Given the description of an element on the screen output the (x, y) to click on. 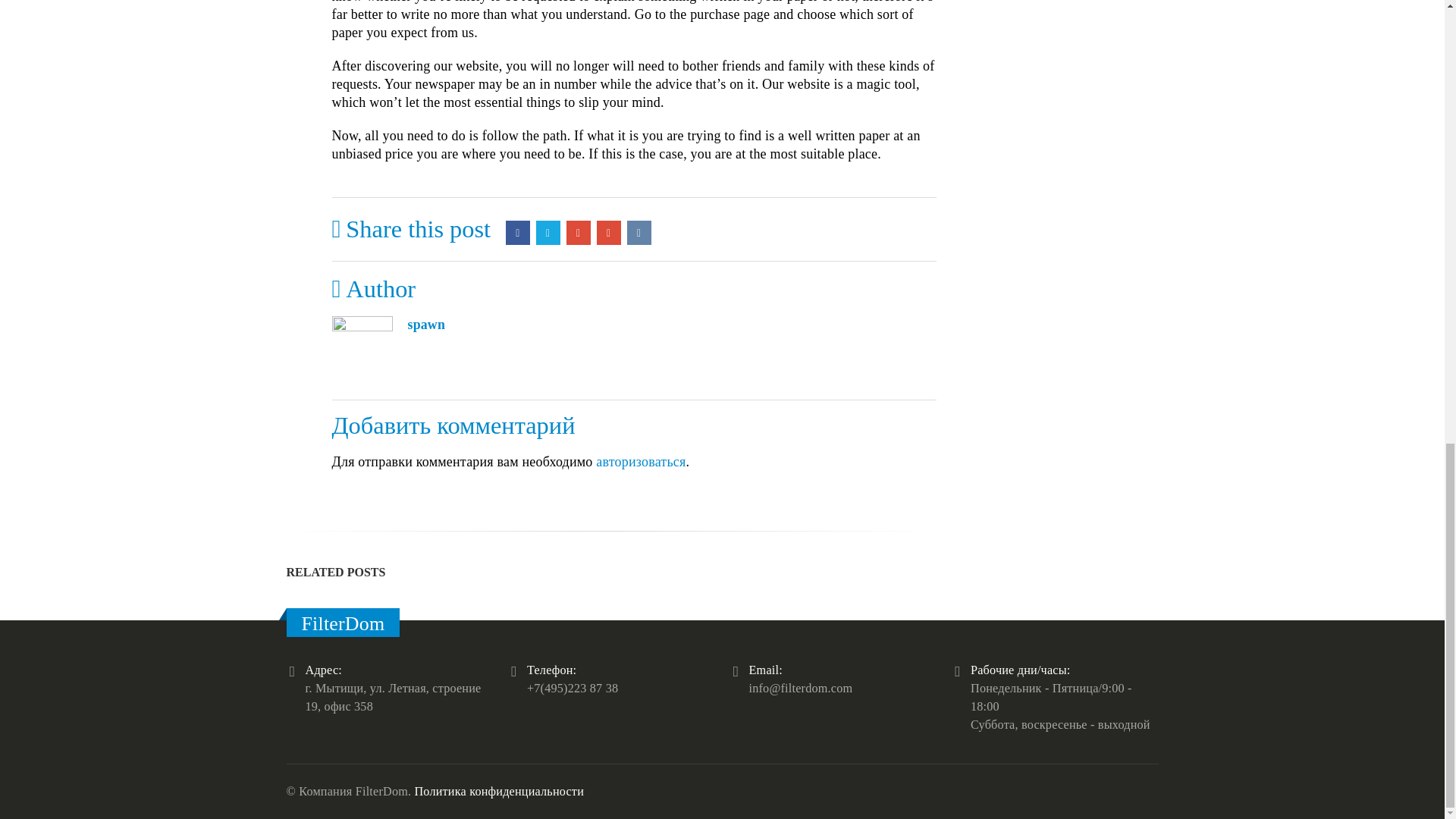
Facebook (517, 232)
spawn (426, 324)
Twitter (547, 232)
Email (608, 232)
Facebook (517, 232)
Twitter (547, 232)
VK (638, 232)
Email (608, 232)
VK (638, 232)
